Given the description of an element on the screen output the (x, y) to click on. 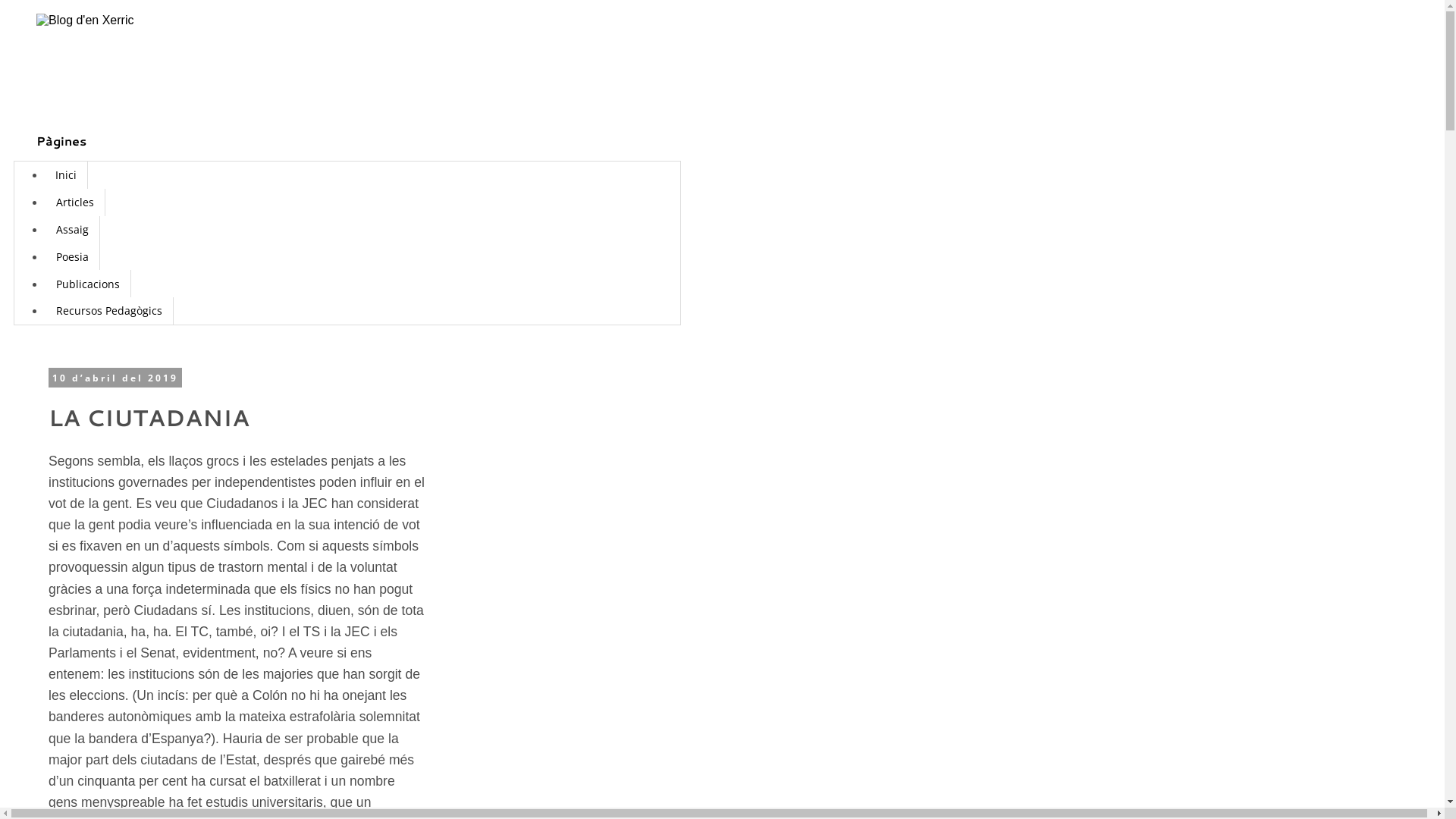
Articles Element type: text (74, 202)
Inici Element type: text (65, 174)
Assaig Element type: text (72, 229)
Publicacions Element type: text (87, 283)
Poesia Element type: text (72, 255)
